Given the description of an element on the screen output the (x, y) to click on. 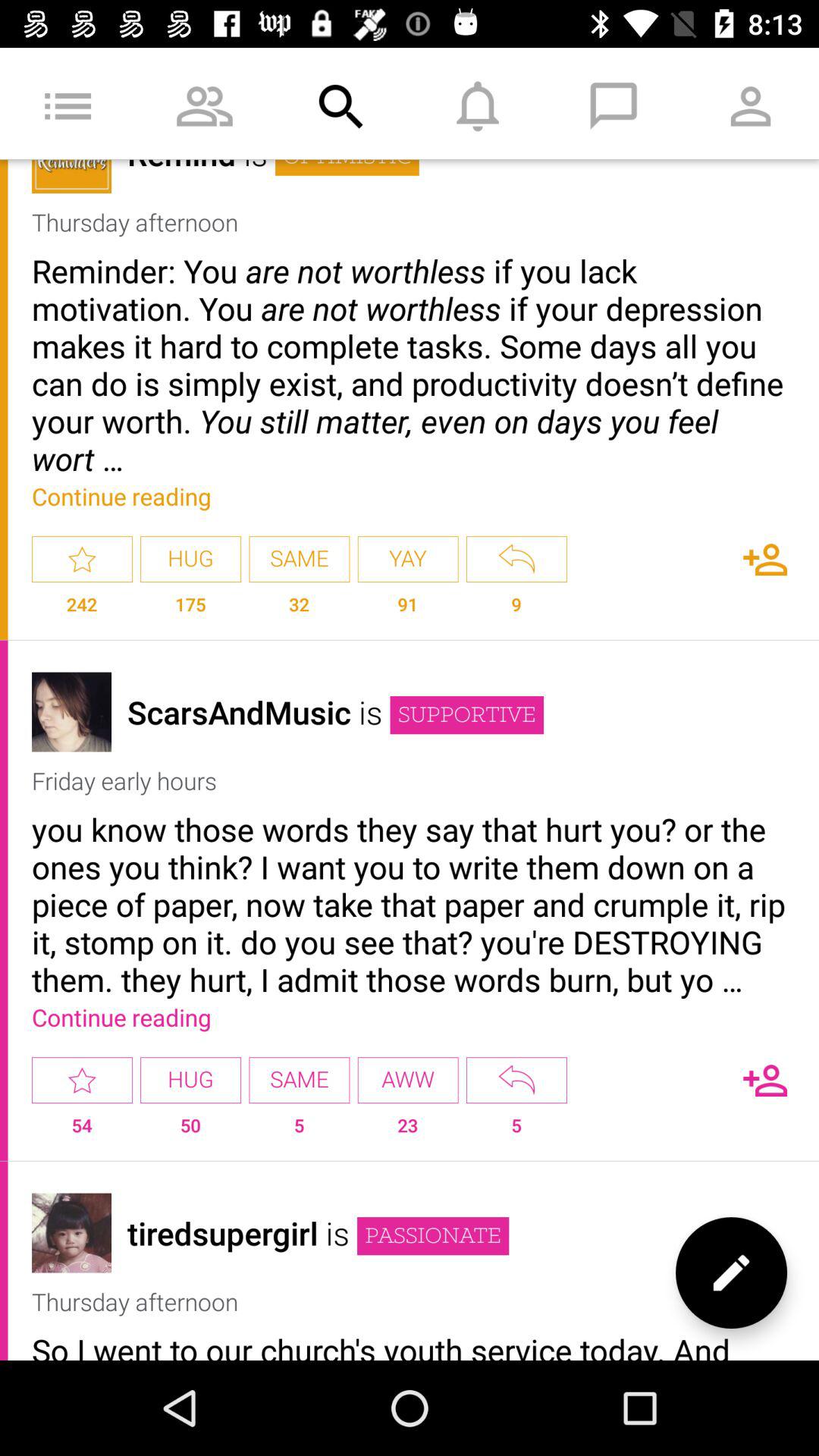
flip to the scarsandmusic (238, 711)
